Given the description of an element on the screen output the (x, y) to click on. 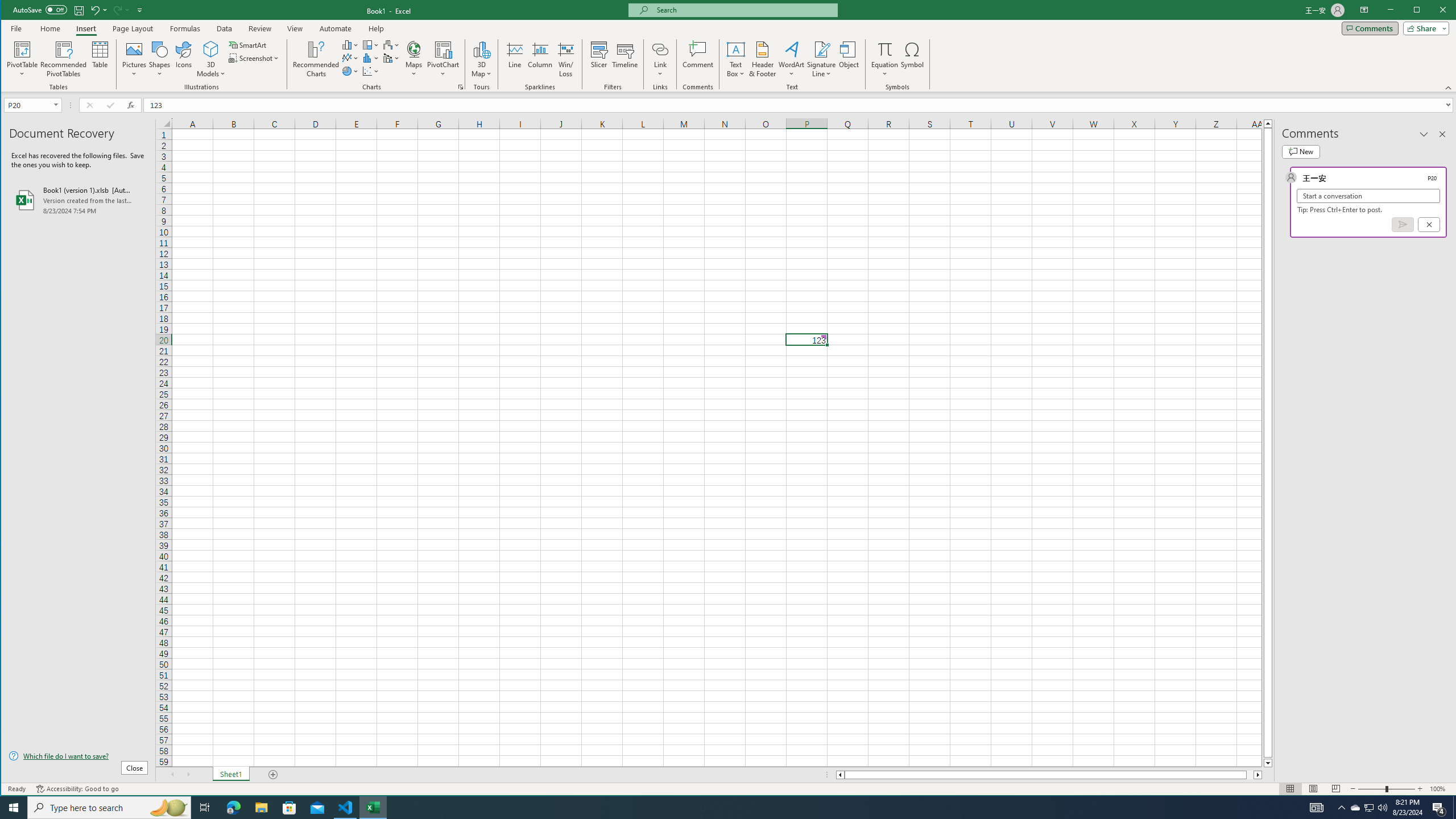
Comment (697, 59)
Show desktop (1454, 807)
Insert Hierarchy Chart (371, 44)
Insert Statistic Chart (371, 57)
Insert Waterfall, Funnel, Stock, Surface, or Radar Chart (391, 44)
Object... (848, 59)
